Given the description of an element on the screen output the (x, y) to click on. 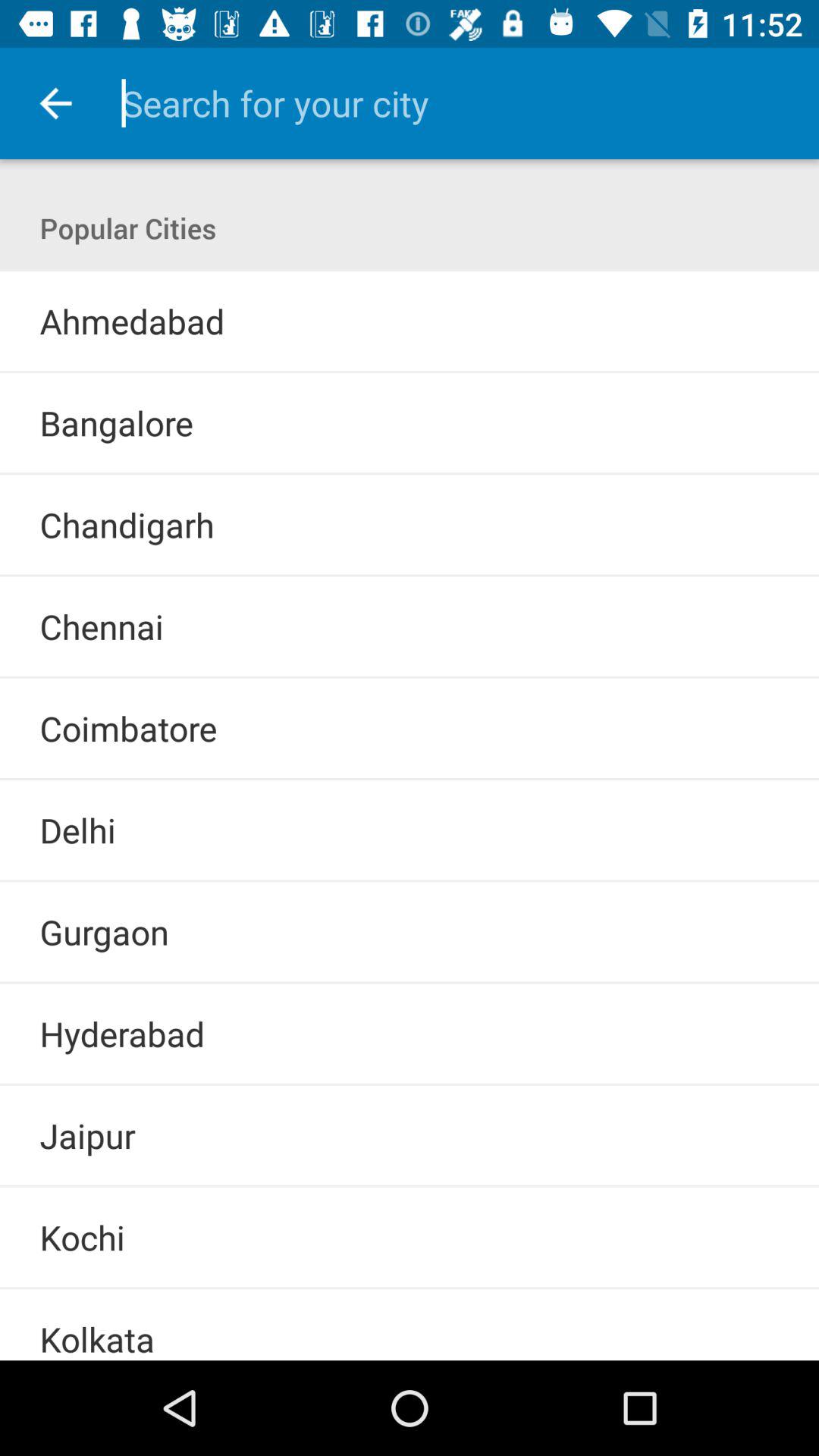
select the icon below the chandigarh item (409, 575)
